Given the description of an element on the screen output the (x, y) to click on. 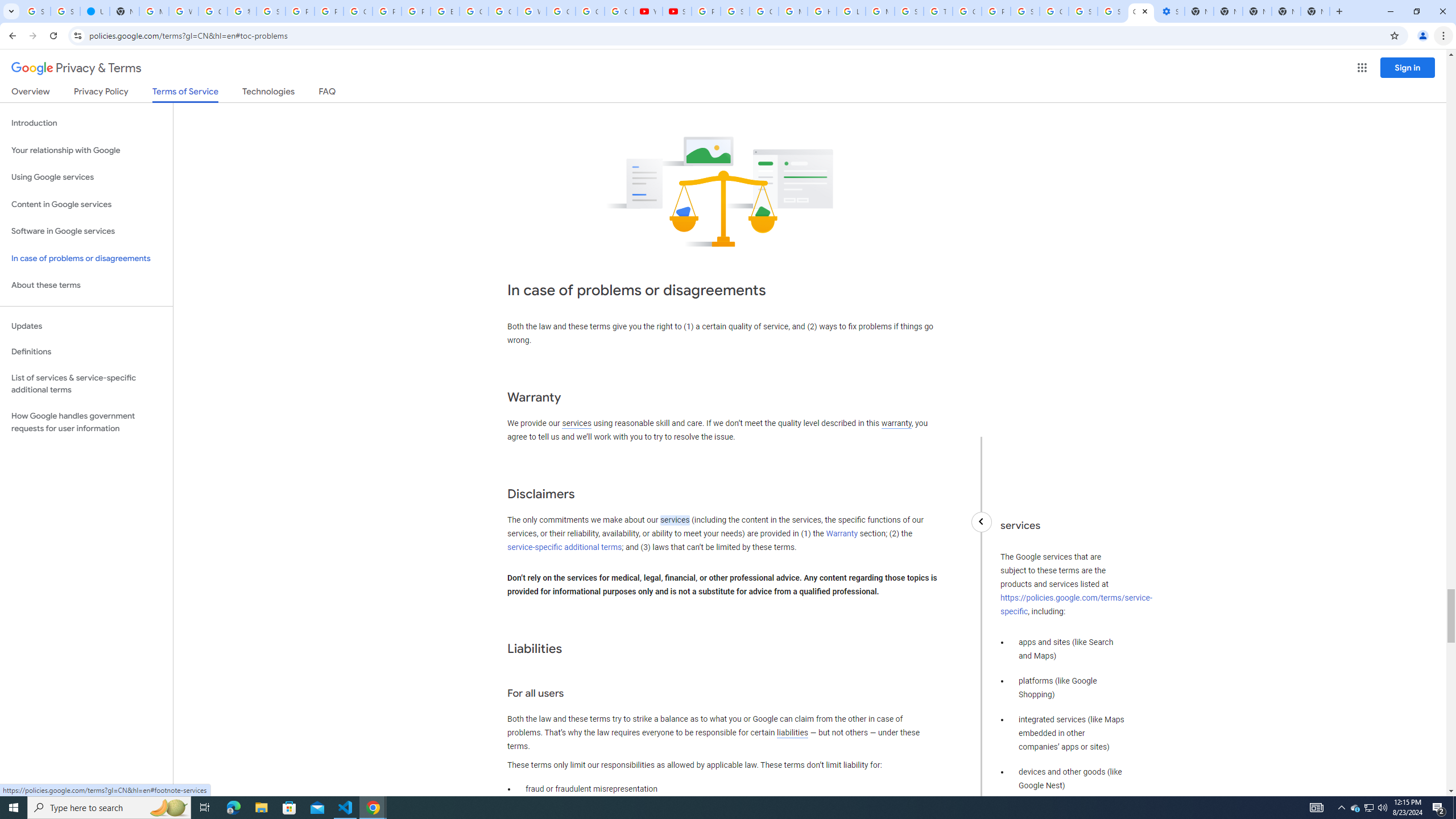
FAQ (327, 93)
Who is my administrator? - Google Account Help (183, 11)
services (674, 520)
Sign in - Google Accounts (271, 11)
USA TODAY (95, 11)
Trusted Information and Content - Google Safety Center (938, 11)
How Google handles government requests for user information (86, 422)
Introduction (86, 122)
Overview (30, 93)
